Given the description of an element on the screen output the (x, y) to click on. 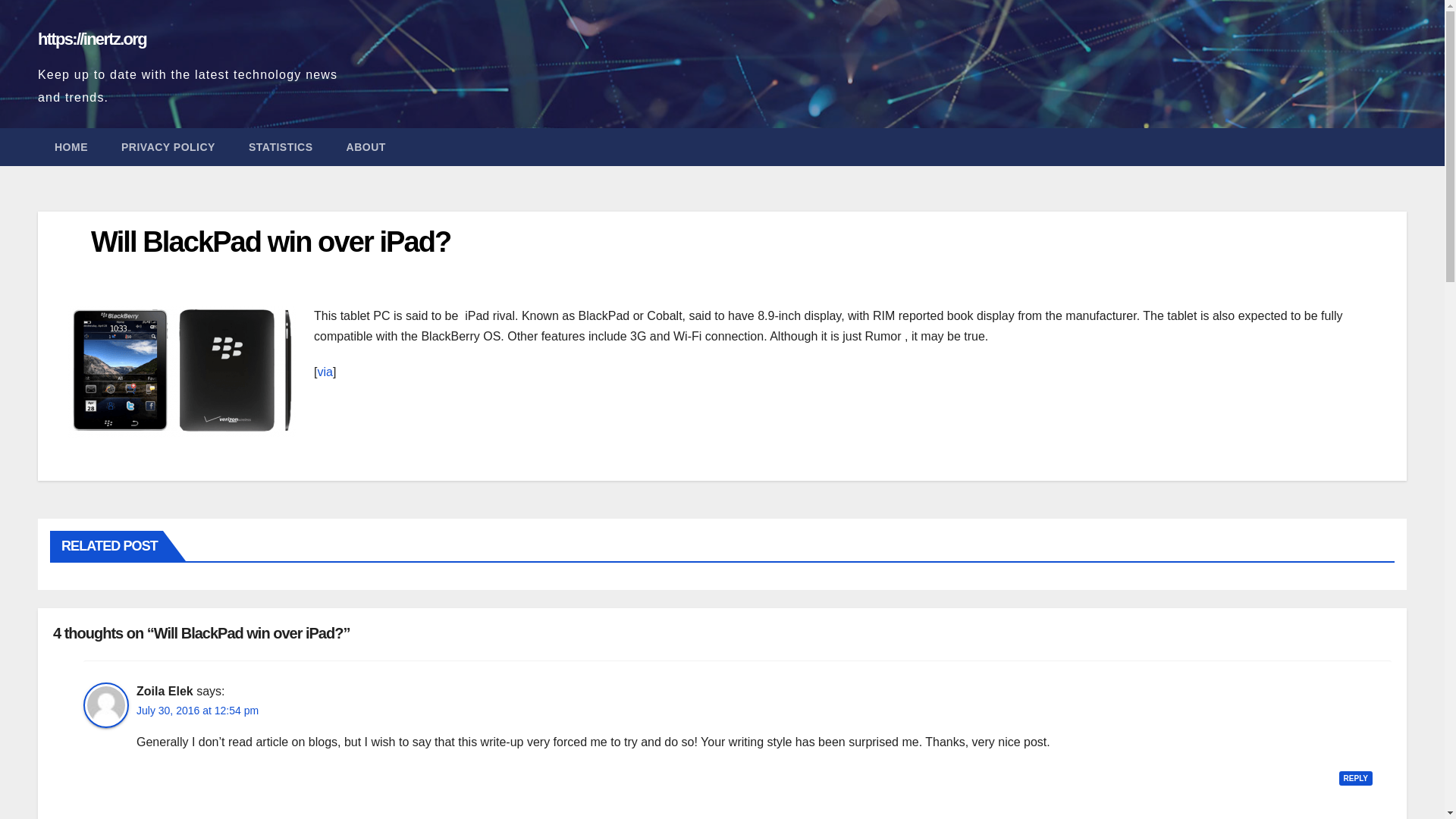
PRIVACY POLICY (167, 146)
STATISTICS (280, 146)
Permalink to: Will BlackPad win over iPad? (269, 241)
Will BlackPad win over iPad? (269, 241)
via (324, 371)
HOME (70, 146)
ABOUT (366, 146)
blackpad (181, 371)
Home (70, 146)
July 30, 2016 at 12:54 pm (197, 710)
